Given the description of an element on the screen output the (x, y) to click on. 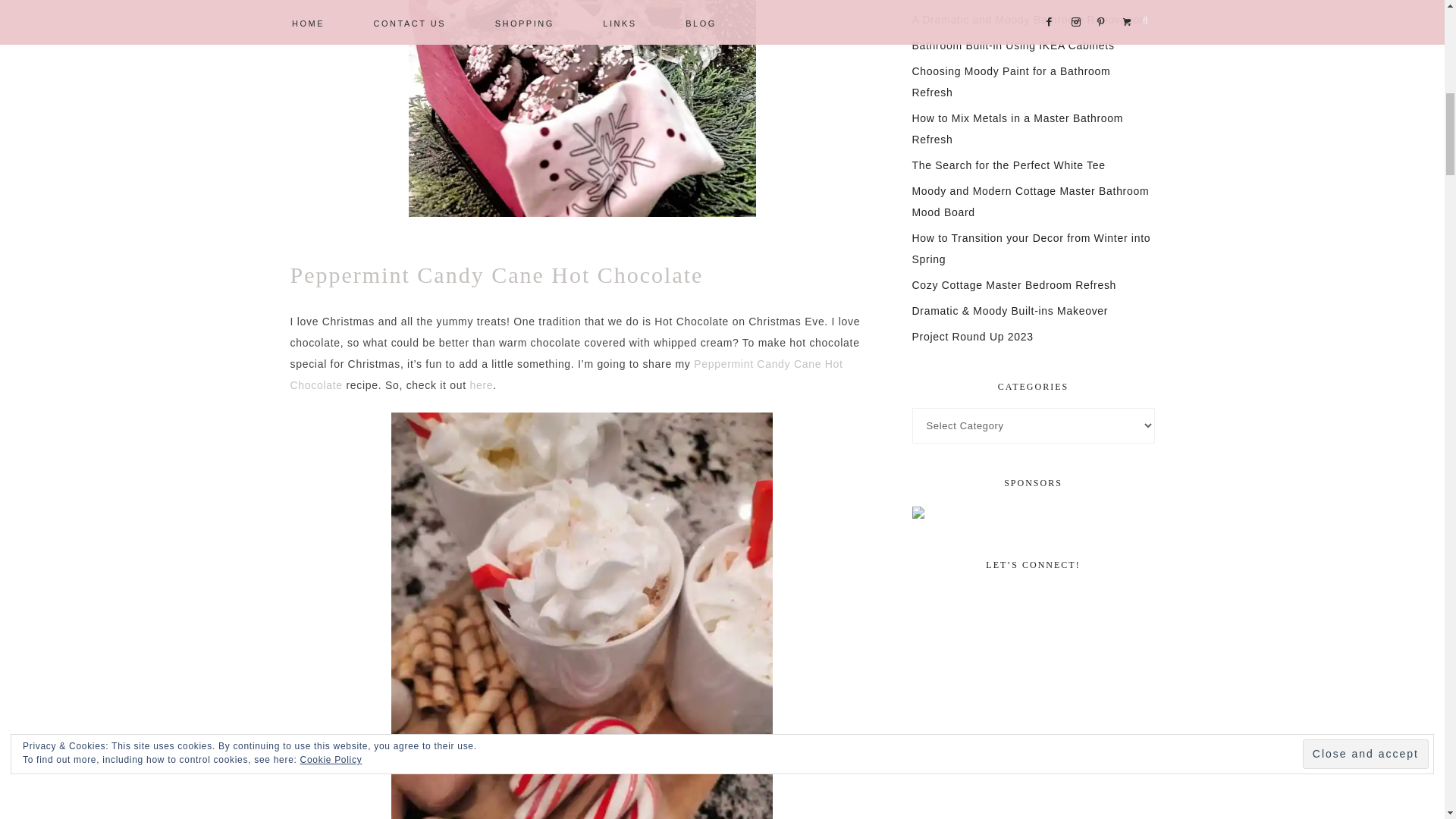
here (480, 385)
Peppermint Candy Cane Hot Chocolate (566, 374)
Peppermint Candy Cane Hot Chocolate (496, 274)
